Given the description of an element on the screen output the (x, y) to click on. 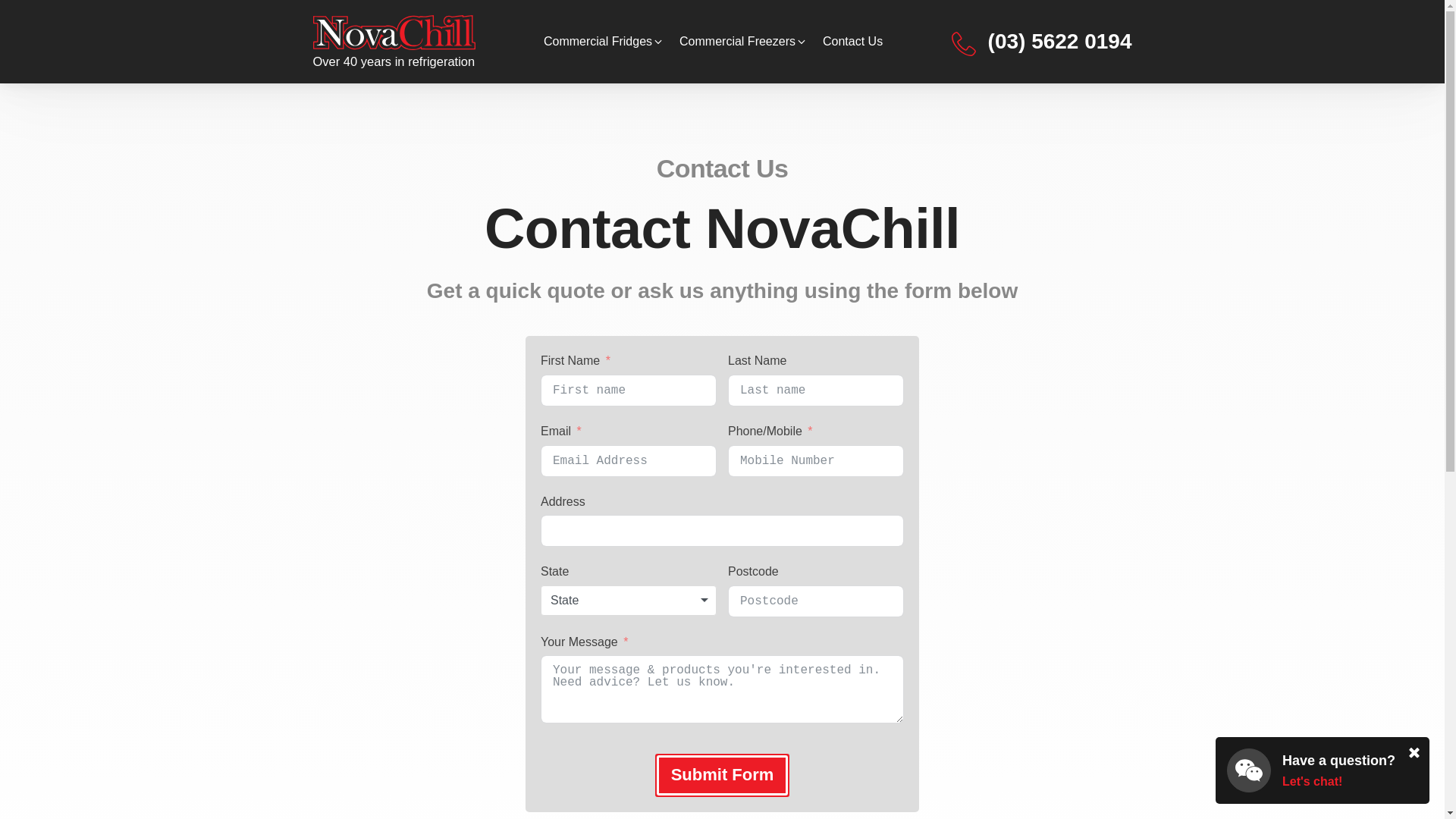
Commercial Fridges Element type: text (603, 41)
(03) 5622 0194 Element type: text (1041, 42)
Over 40 years in refrigeration Element type: text (393, 41)
Commercial Freezers Element type: text (743, 41)
Submit Form Element type: text (722, 775)
Contact Us Element type: text (852, 41)
